Given the description of an element on the screen output the (x, y) to click on. 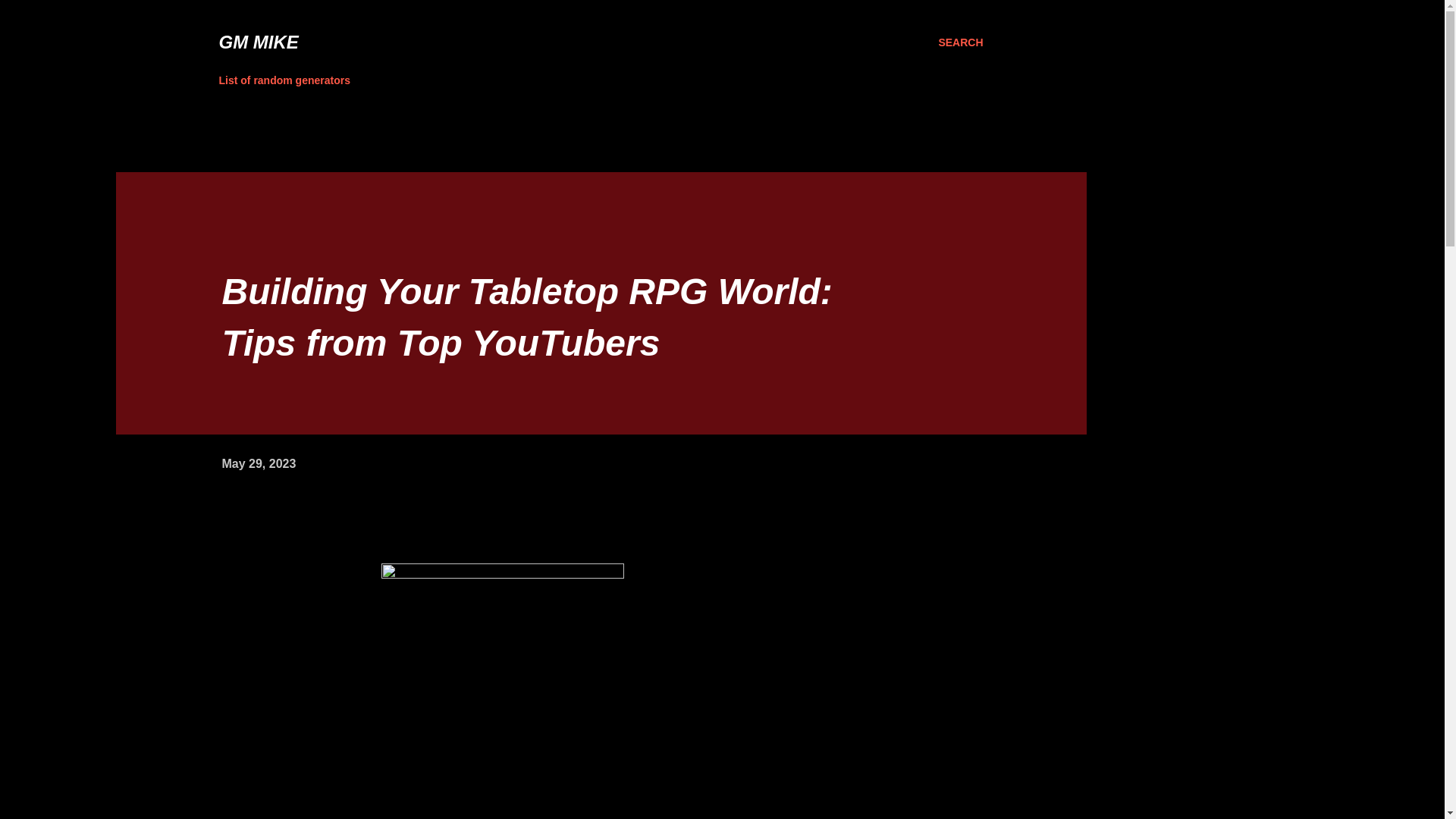
List of random generators (288, 80)
permanent link (258, 463)
Advertisement (395, 121)
GM MIKE (258, 41)
SEARCH (959, 42)
May 29, 2023 (258, 463)
